Given the description of an element on the screen output the (x, y) to click on. 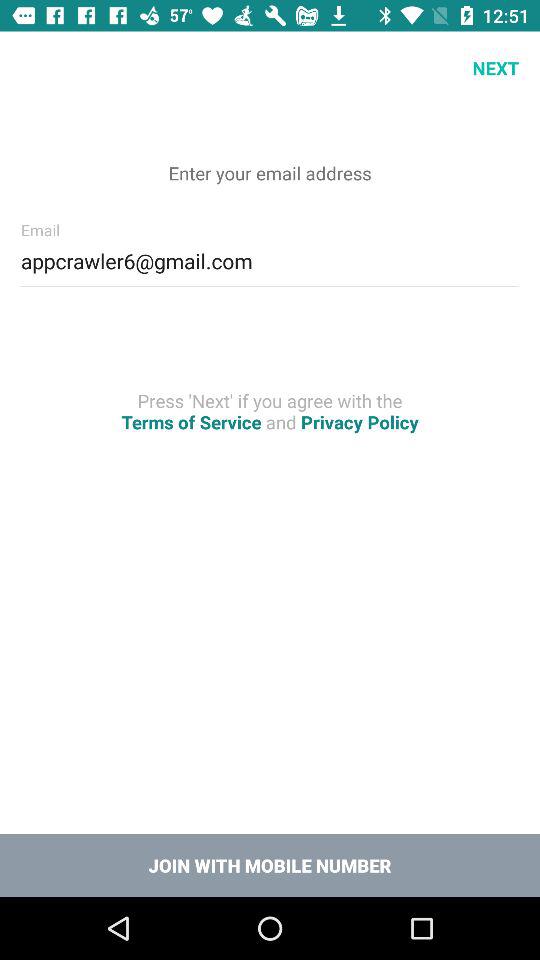
open the press next if at the center (270, 411)
